Given the description of an element on the screen output the (x, y) to click on. 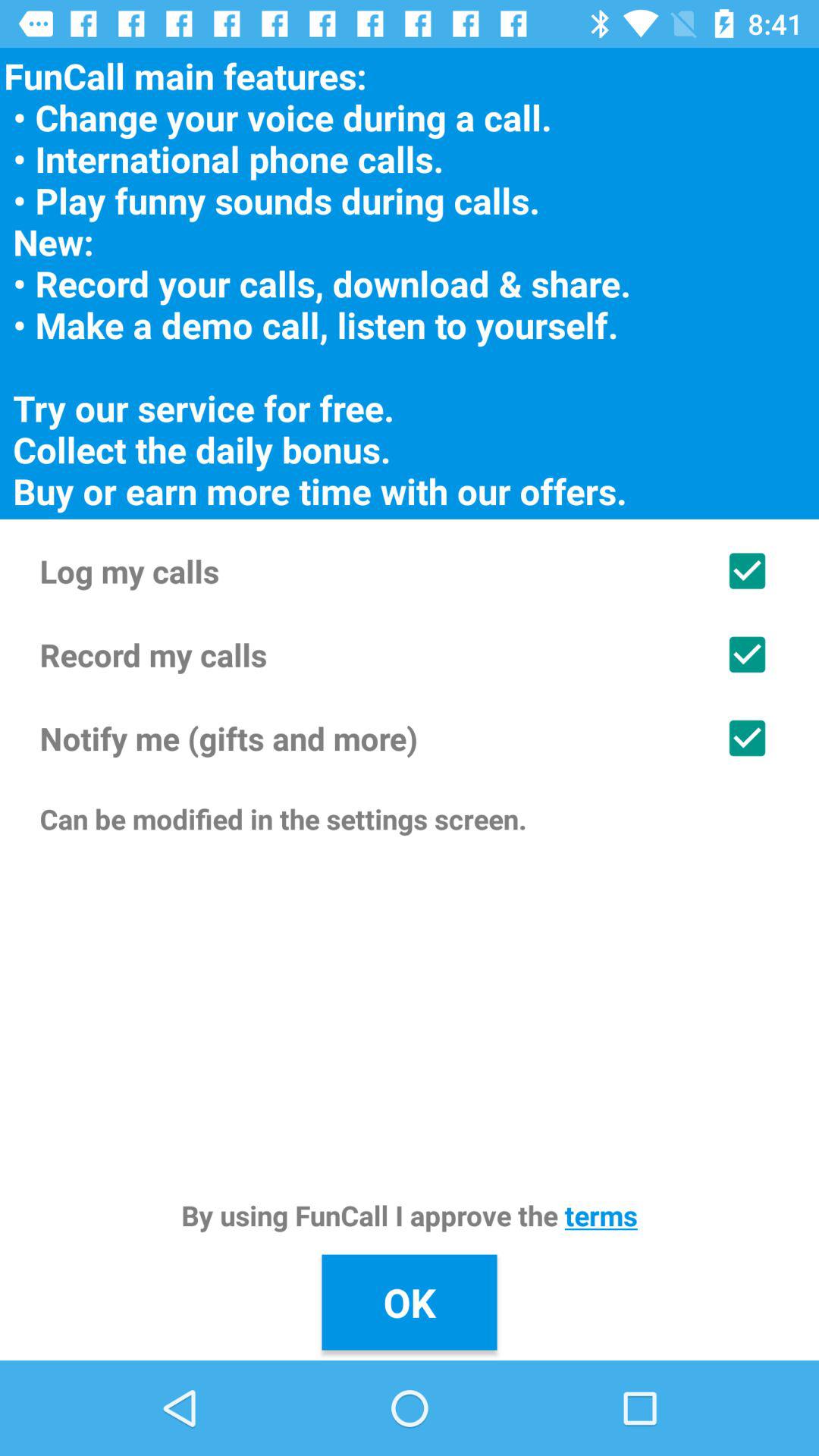
scroll to notify me gifts icon (409, 738)
